Given the description of an element on the screen output the (x, y) to click on. 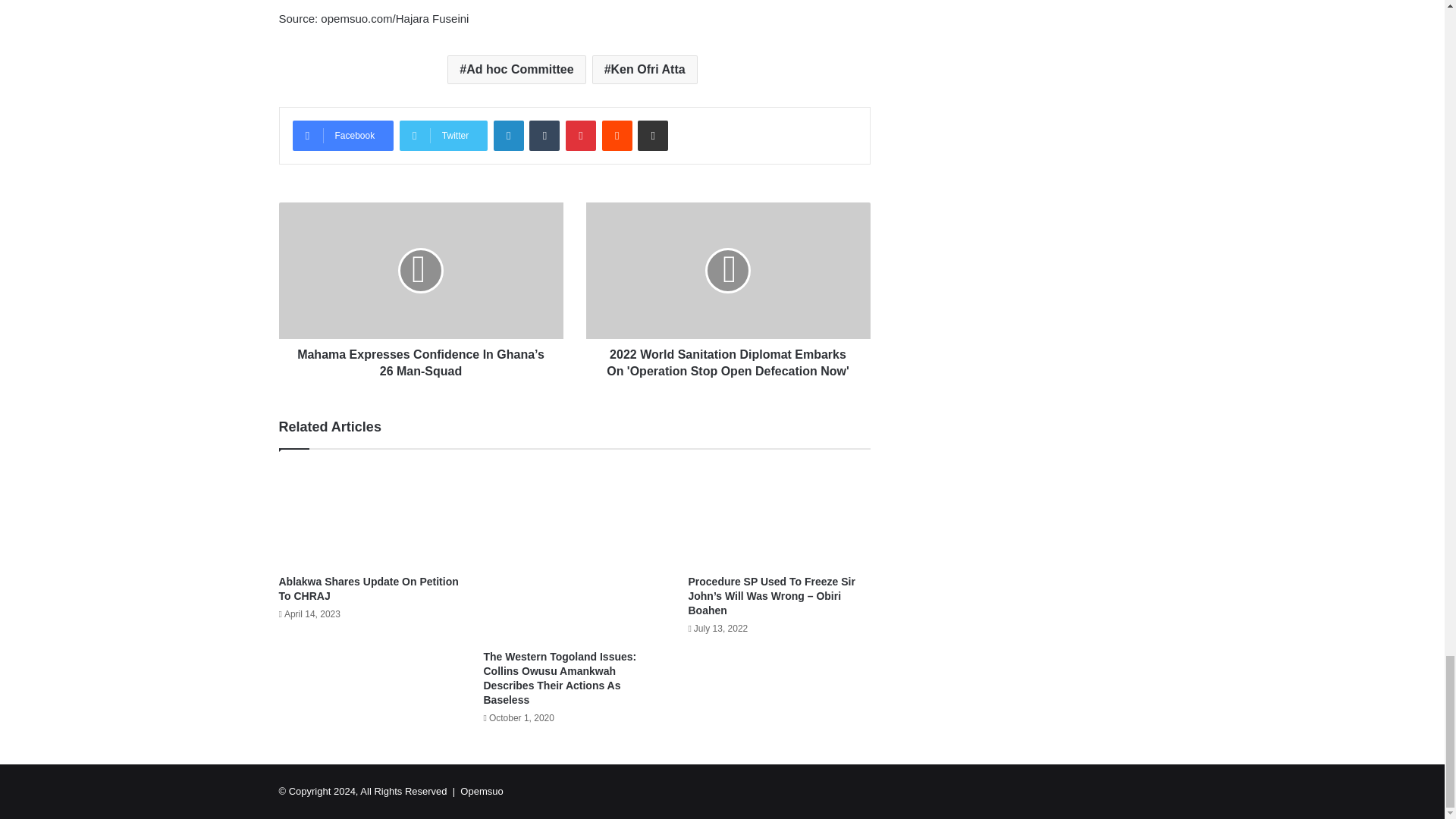
LinkedIn (508, 135)
Twitter (442, 135)
Tumblr (544, 135)
Facebook (343, 135)
